Given the description of an element on the screen output the (x, y) to click on. 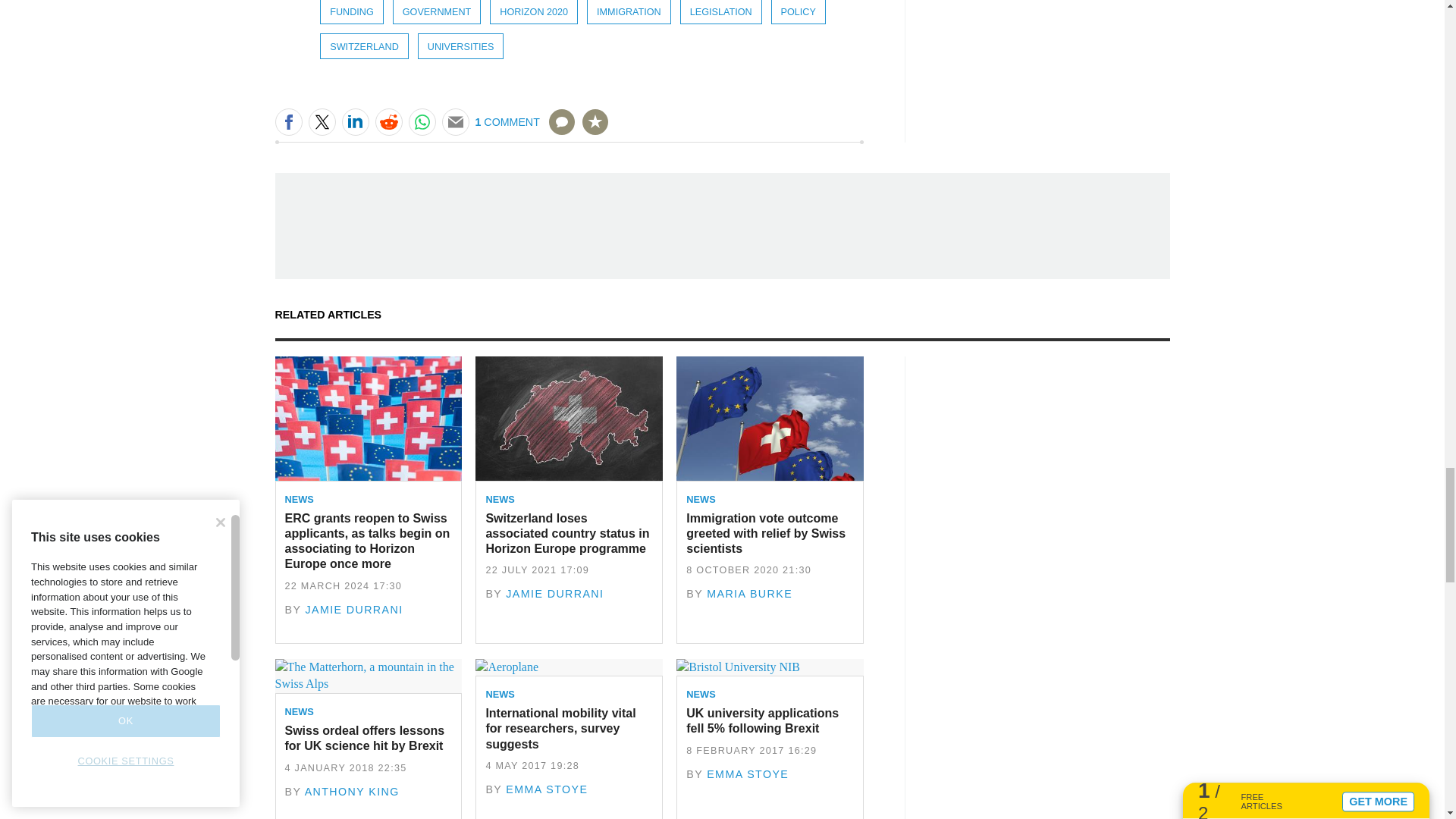
Share this on Reddit (387, 121)
Share this by email (454, 121)
Share this on WhatsApp (421, 121)
Share this on Facebook (288, 121)
Share this on LinkedIn (354, 121)
1 COMMENT (524, 130)
